Given the description of an element on the screen output the (x, y) to click on. 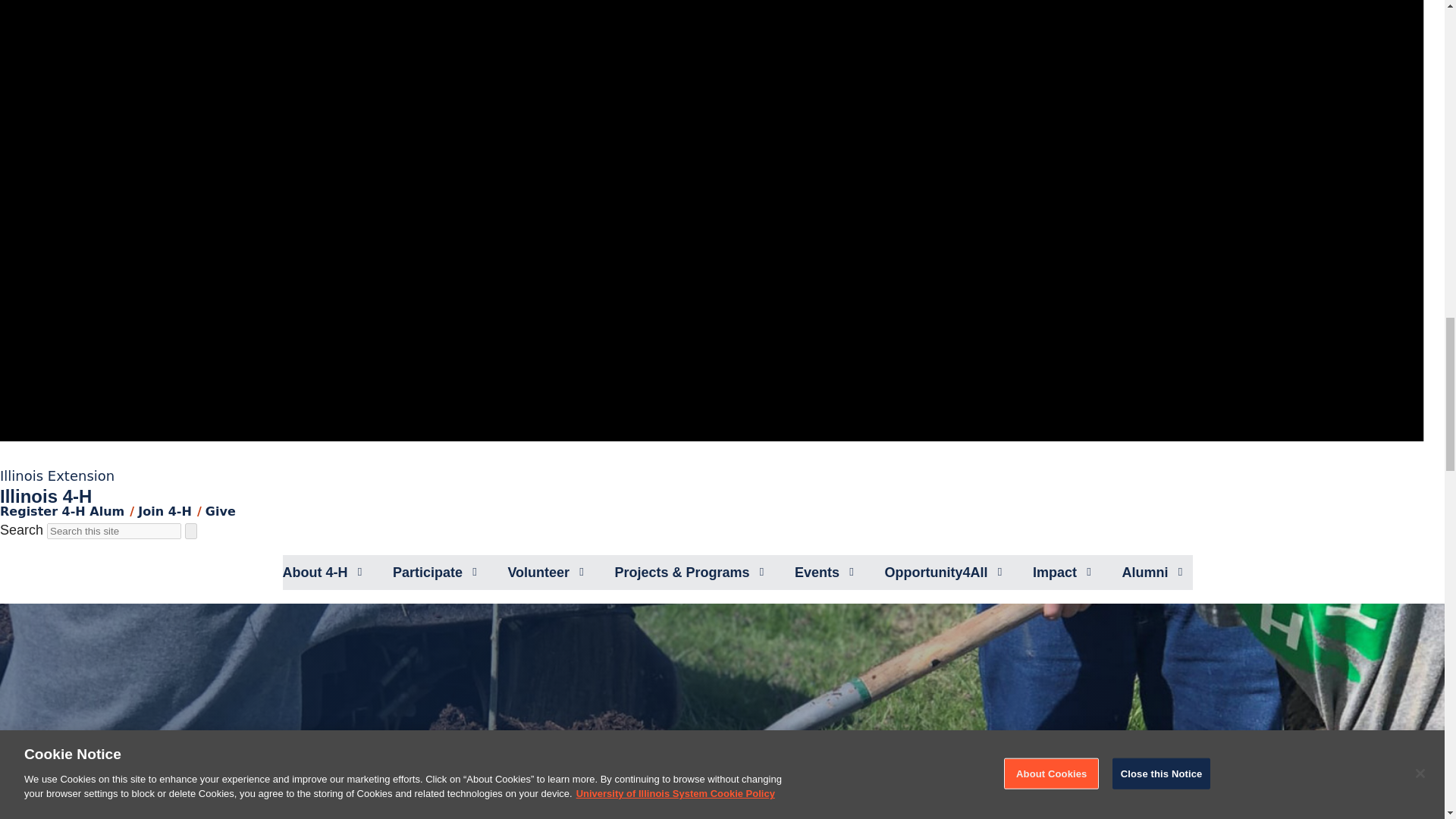
About 4-H (314, 572)
Illinois Extension (57, 475)
Give (220, 511)
Join 4-H (165, 511)
Illinois 4-H (45, 496)
Register 4-H Alum (61, 511)
